Given the description of an element on the screen output the (x, y) to click on. 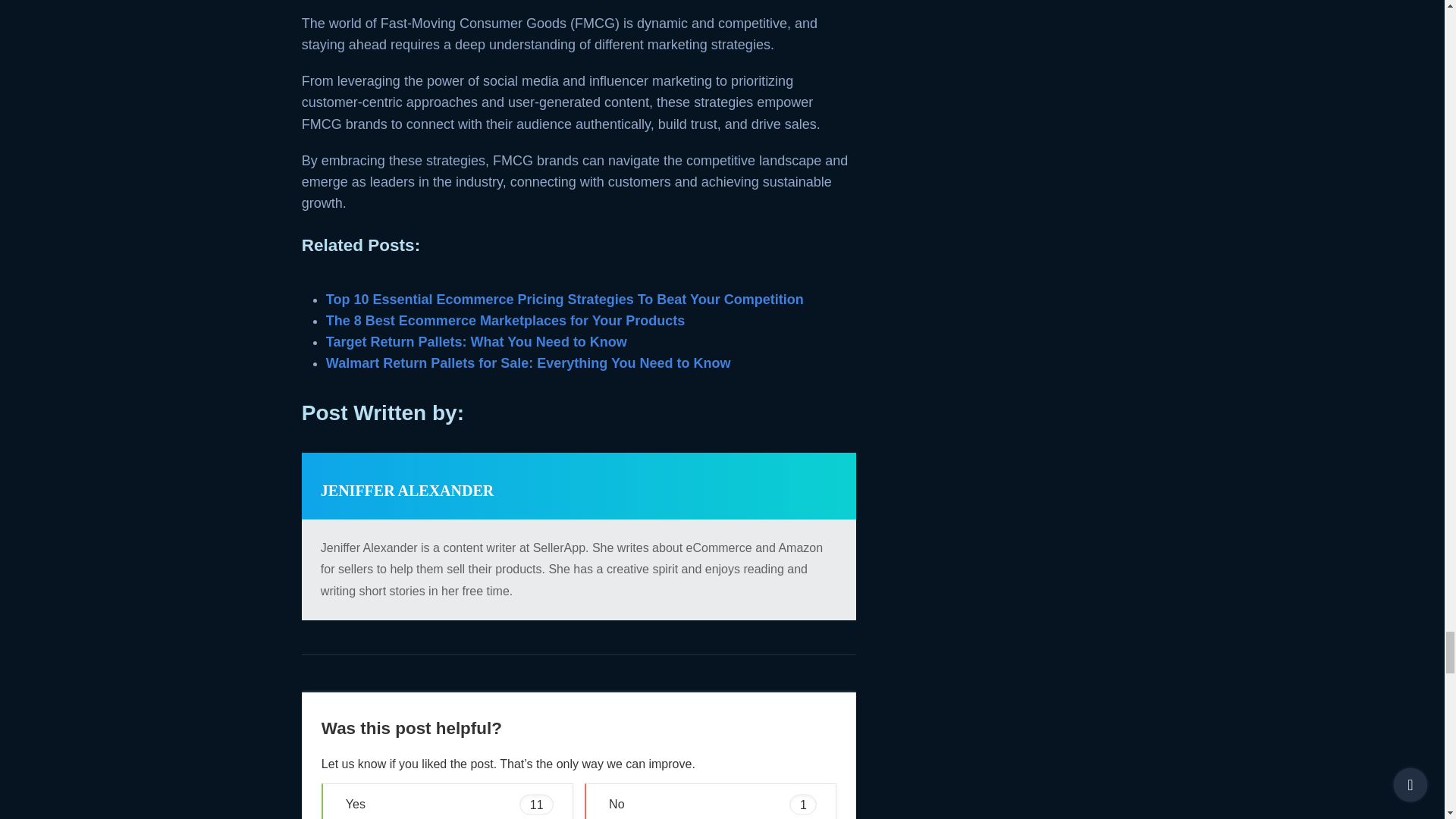
Author profile (406, 490)
The 8 Best Ecommerce Marketplaces for Your Products (505, 320)
Walmart Return Pallets for Sale: Everything You Need to Know (528, 363)
Target Return Pallets: What You Need to Know (476, 341)
